Given the description of an element on the screen output the (x, y) to click on. 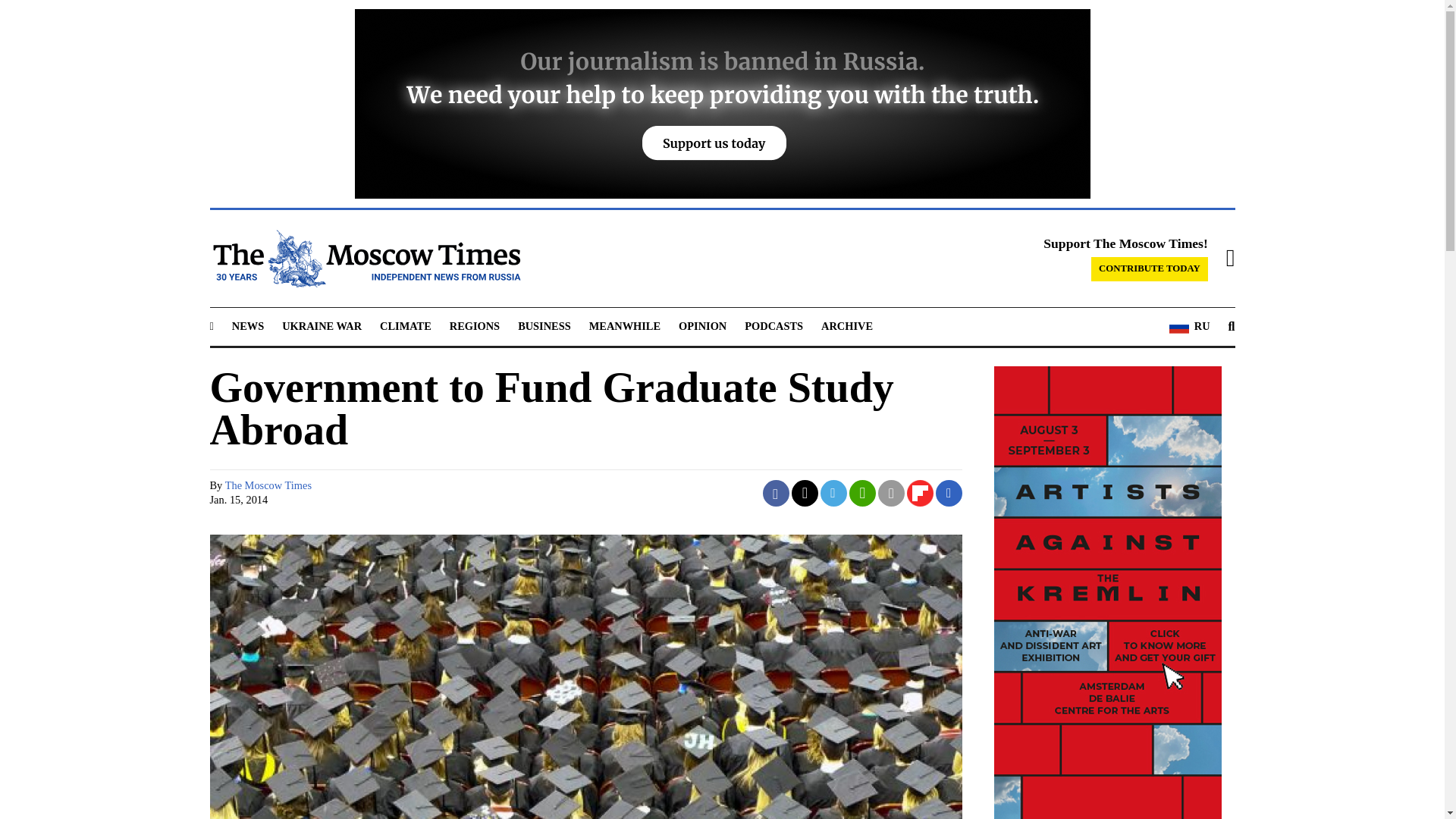
OPINION (702, 326)
RU (1189, 326)
CONTRIBUTE TODAY (1149, 269)
Share on Flipboard (920, 492)
The Moscow Times - Independent News from Russia (364, 258)
PODCASTS (773, 326)
Share on Telegram (834, 492)
CLIMATE (405, 326)
UKRAINE WAR (321, 326)
Share on Twitter (805, 492)
MEANWHILE (625, 326)
BUSINESS (544, 326)
ARCHIVE (846, 326)
NEWS (247, 326)
REGIONS (474, 326)
